Given the description of an element on the screen output the (x, y) to click on. 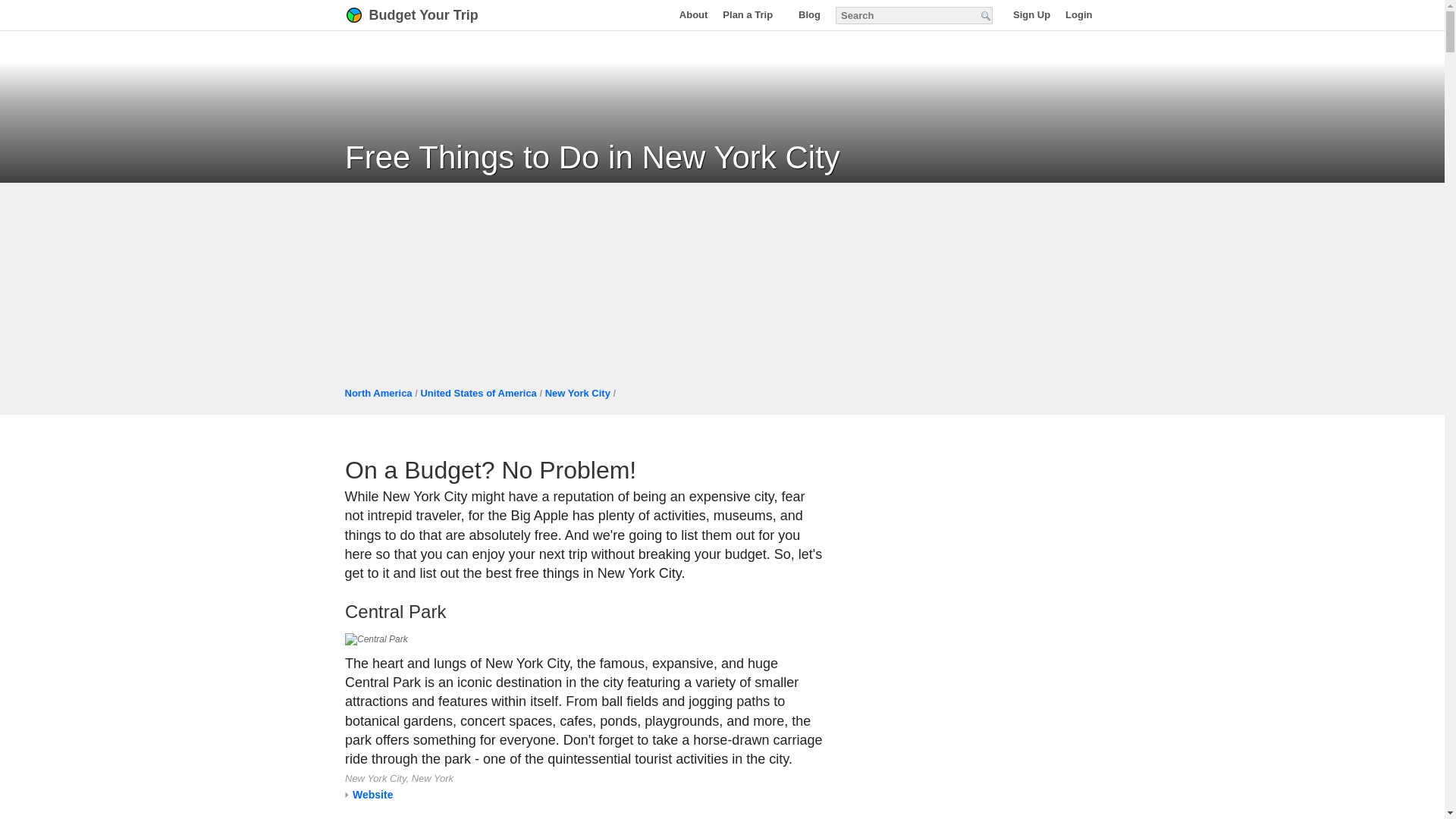
Budget Your Trip (431, 14)
New York City (577, 392)
About (693, 14)
North America (377, 392)
Website (371, 794)
Plan a Trip (752, 14)
Blog (809, 14)
United States of America (477, 392)
Login (1078, 14)
Sign Up (1031, 14)
